Given the description of an element on the screen output the (x, y) to click on. 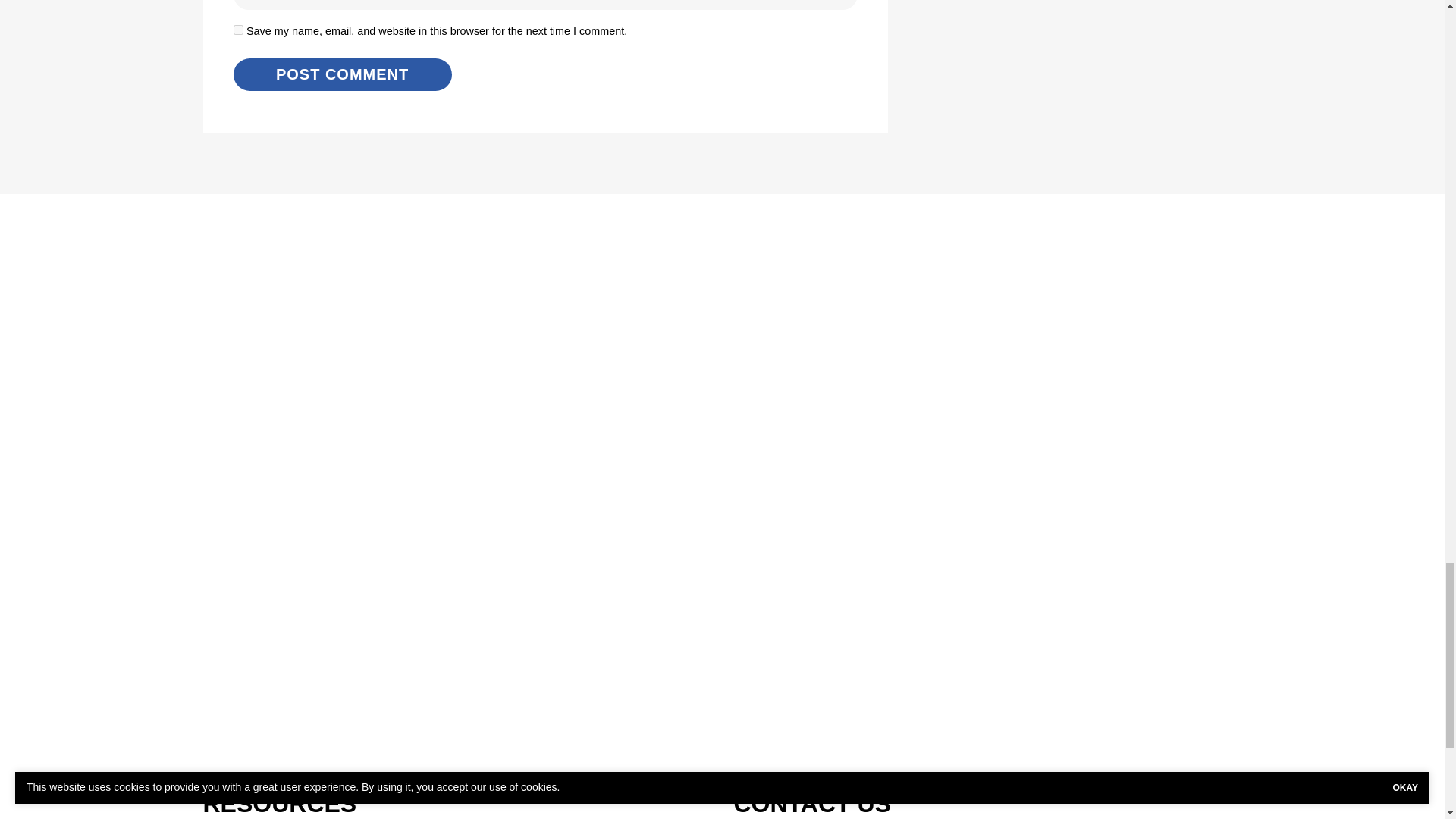
Post Comment (341, 74)
yes (237, 30)
